Given the description of an element on the screen output the (x, y) to click on. 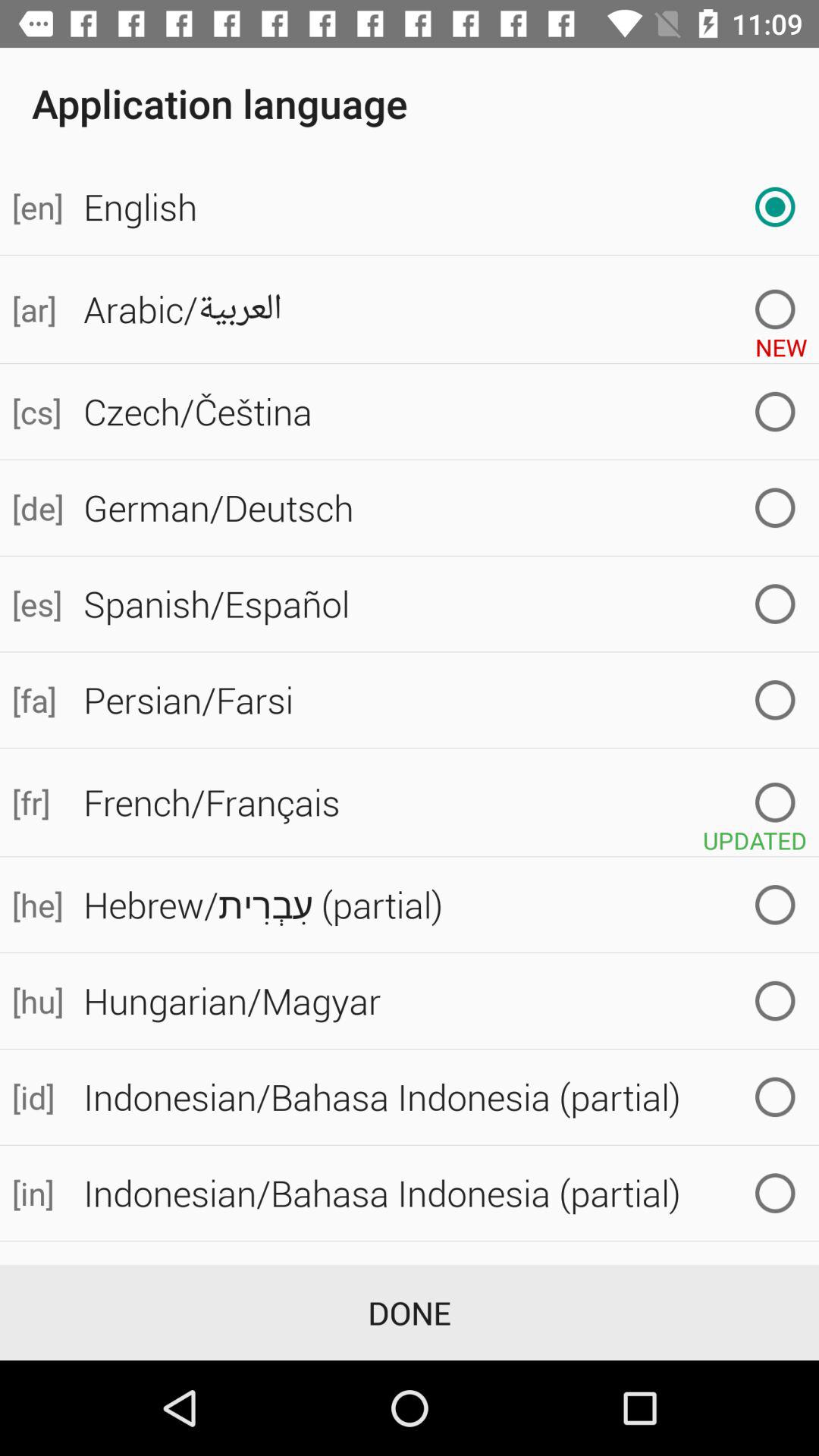
tap the hungarian/magyar item (445, 1000)
